Given the description of an element on the screen output the (x, y) to click on. 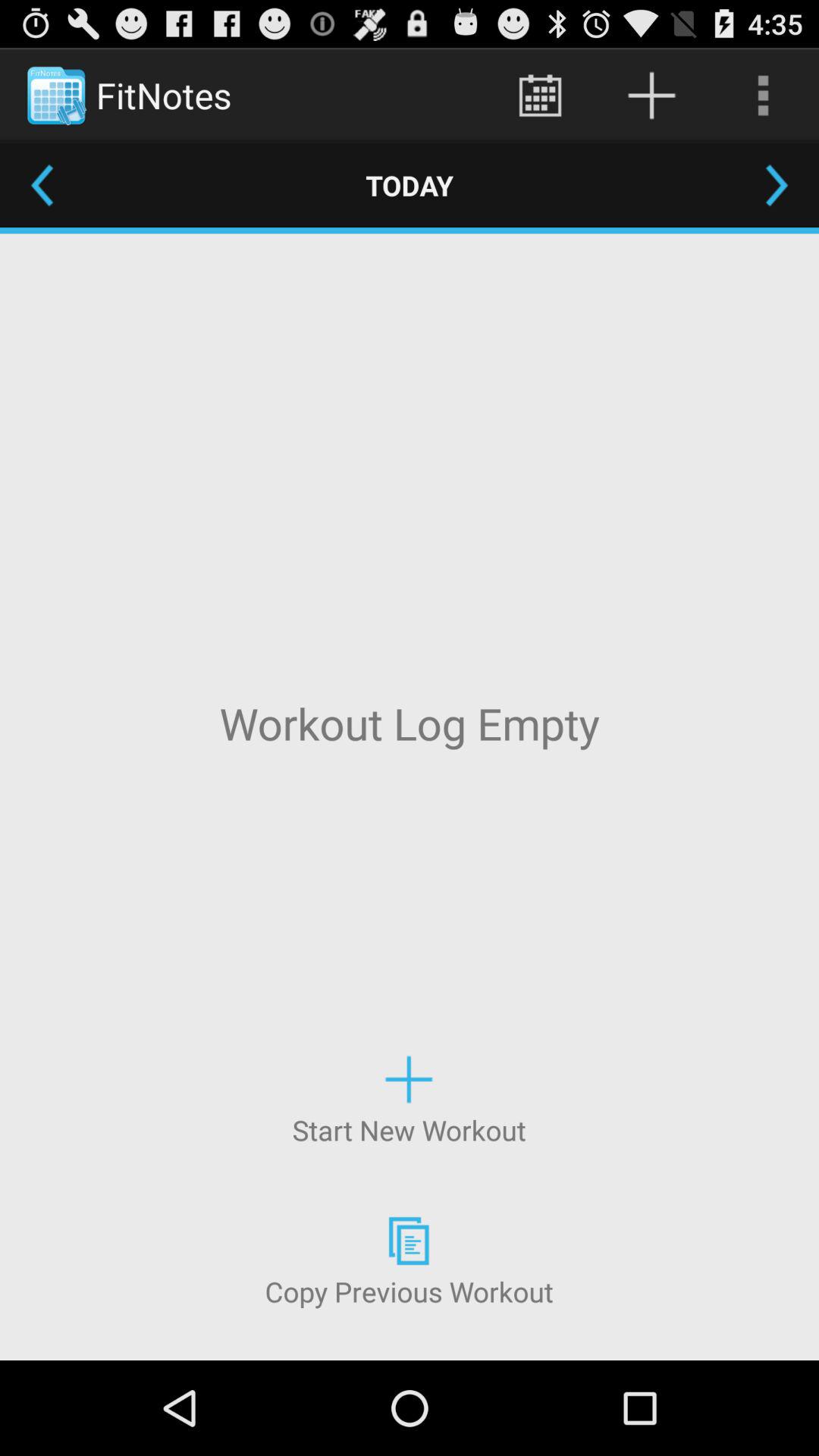
scroll until start new workout item (409, 1098)
